Given the description of an element on the screen output the (x, y) to click on. 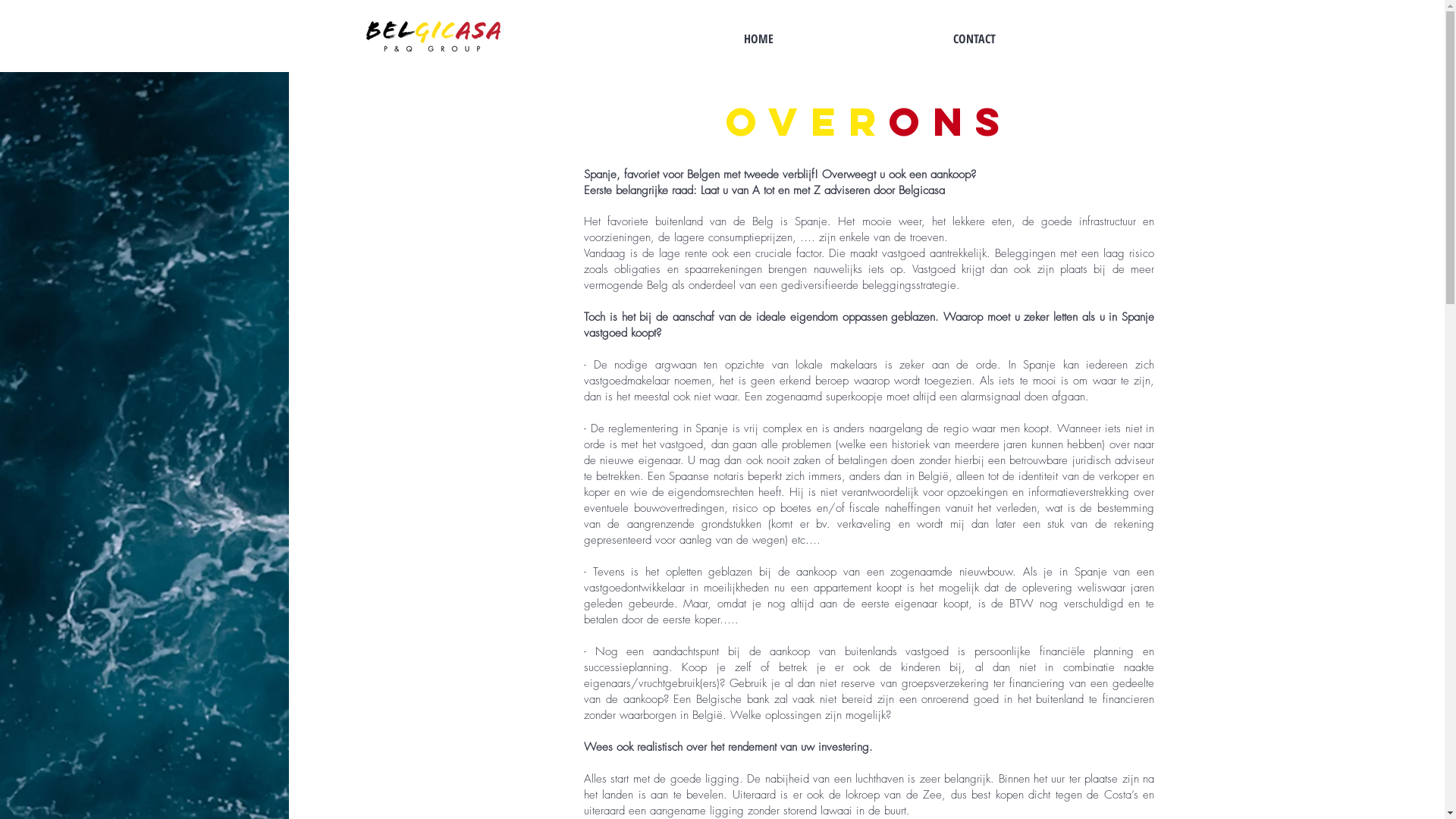
HOME Element type: text (757, 38)
CONTACT Element type: text (973, 38)
